Given the description of an element on the screen output the (x, y) to click on. 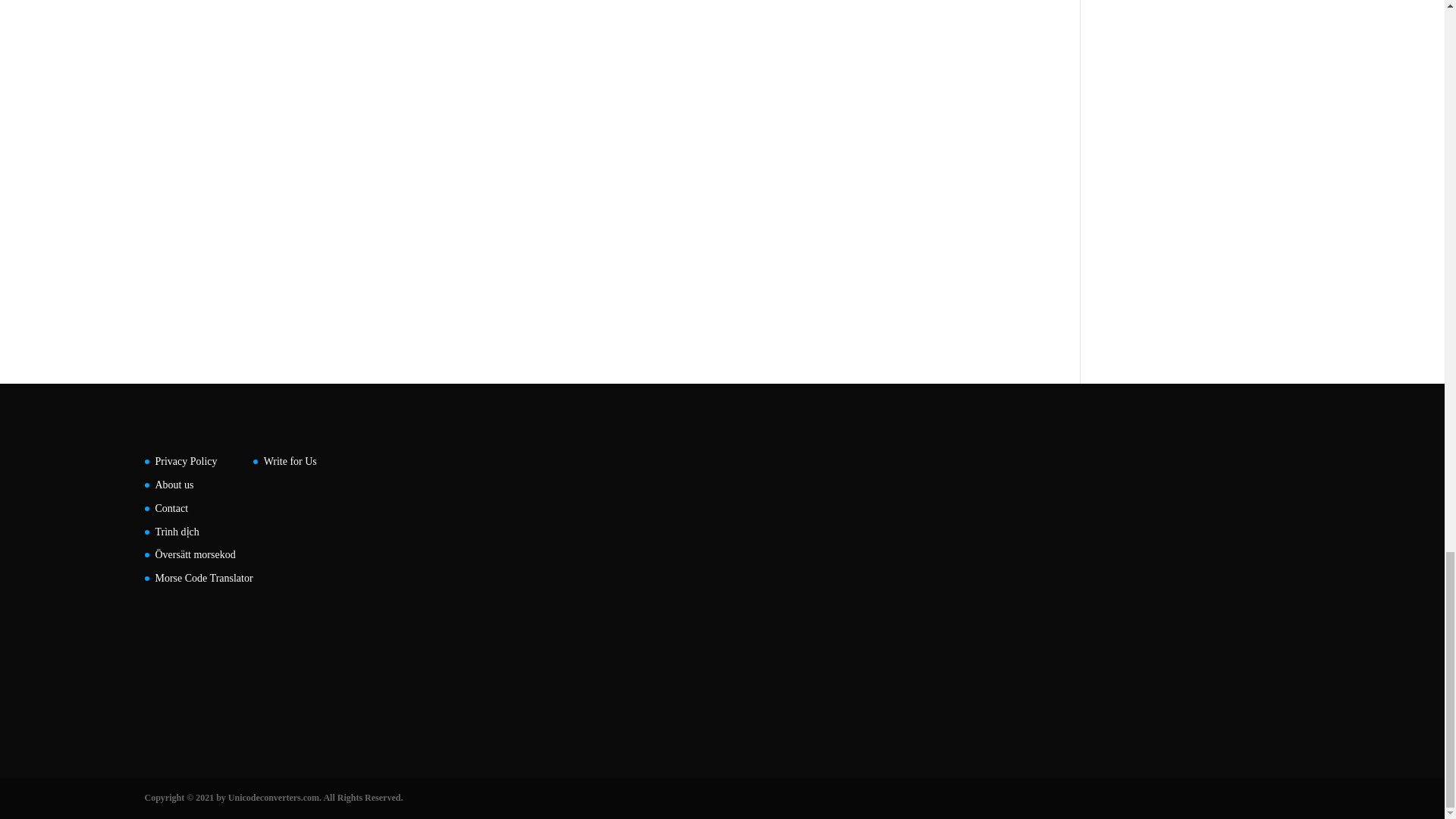
Contact (170, 508)
Write for Us (290, 460)
Privacy Policy (185, 460)
Morse Code Translator (202, 577)
About us (173, 484)
